Given the description of an element on the screen output the (x, y) to click on. 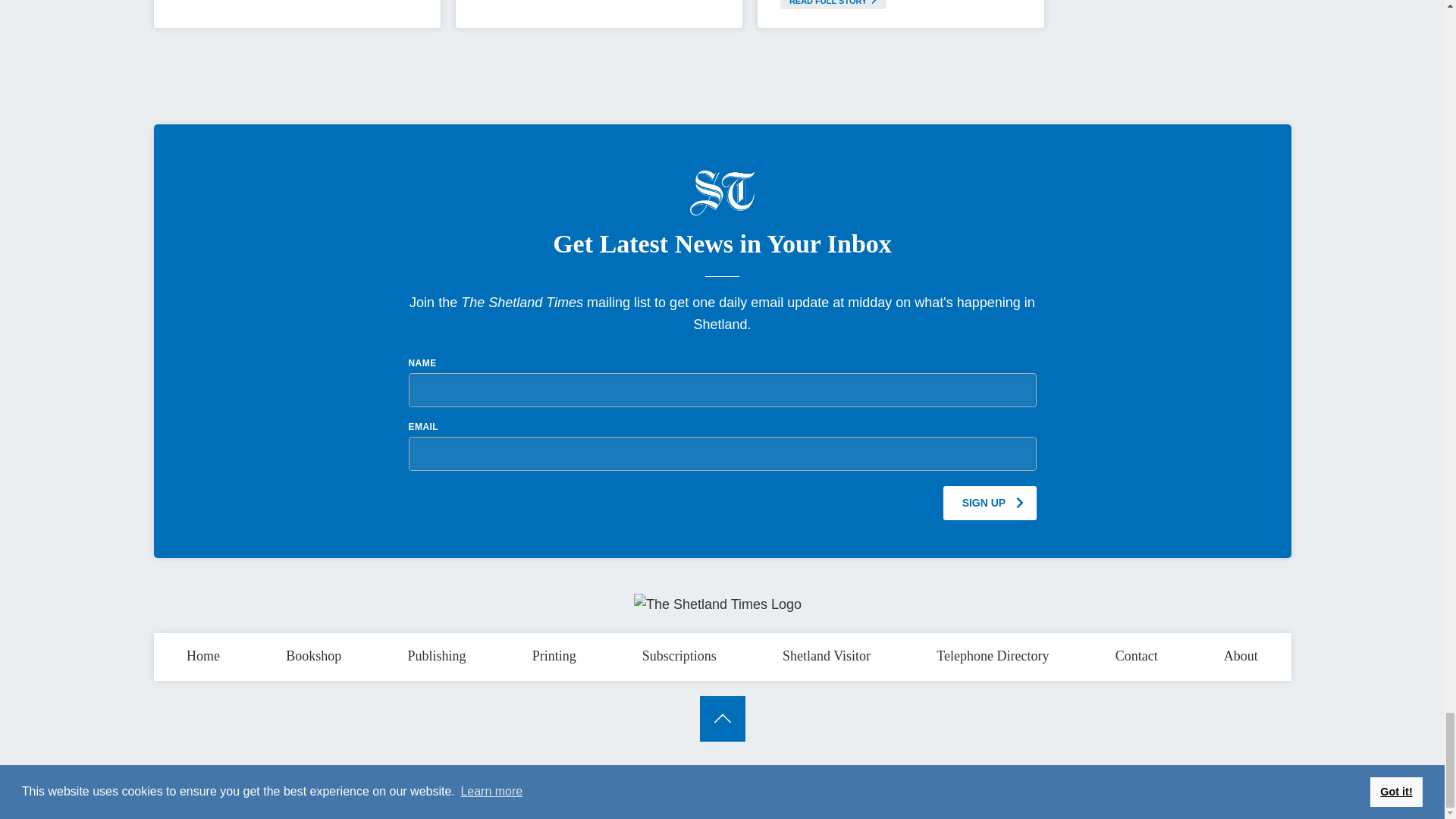
Shetland's website design and internet marketing specialists (1273, 781)
